Given the description of an element on the screen output the (x, y) to click on. 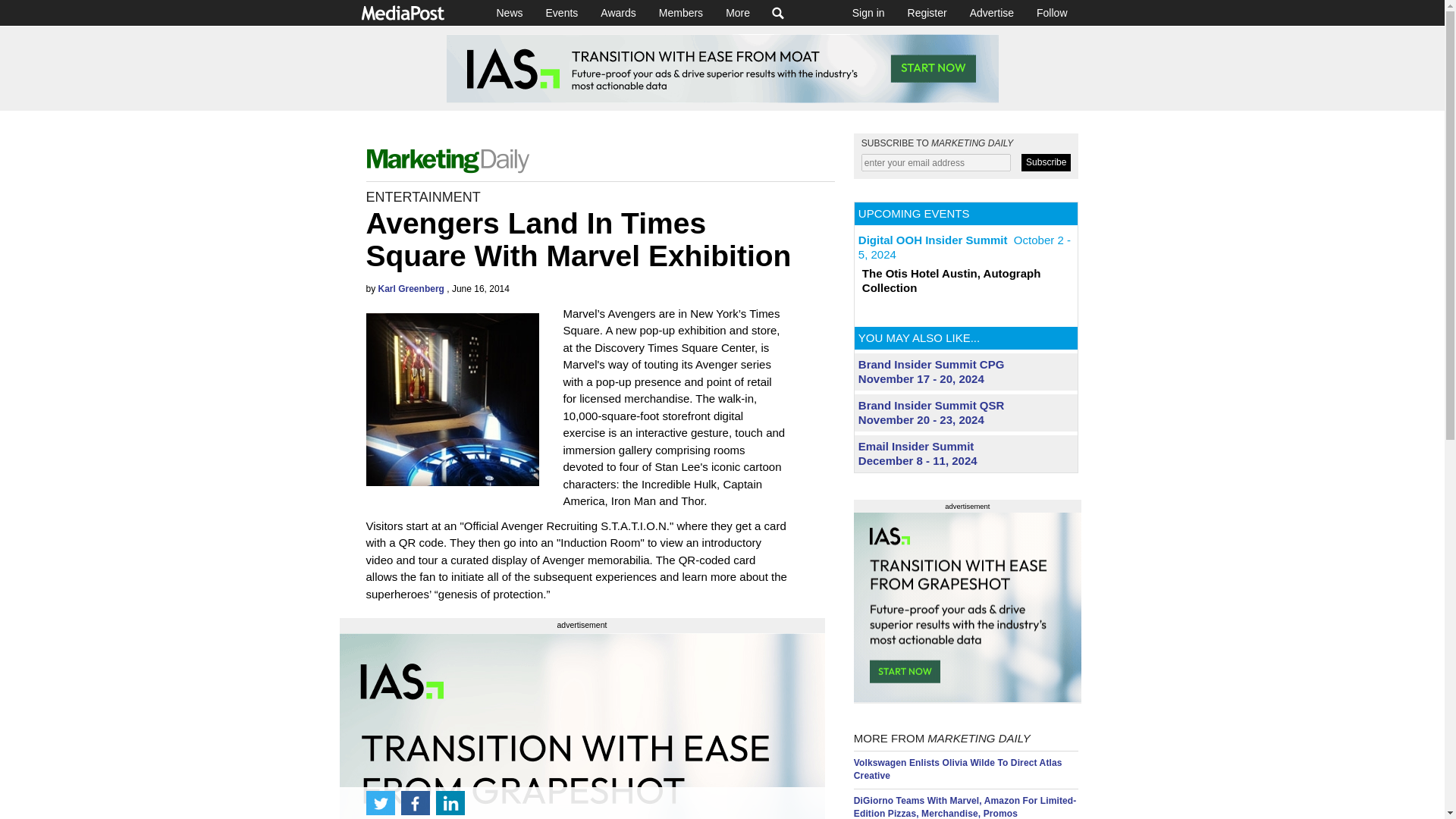
News (509, 12)
Share on LinkedIn (449, 802)
Share on Twitter (379, 802)
Share on Facebook (414, 802)
Subscribe (1046, 162)
